Given the description of an element on the screen output the (x, y) to click on. 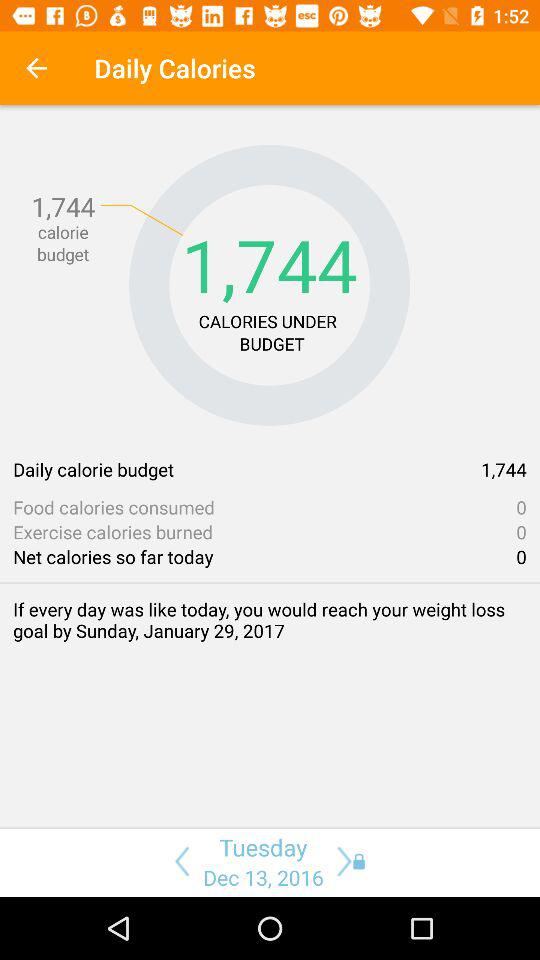
go back (178, 861)
